Given the description of an element on the screen output the (x, y) to click on. 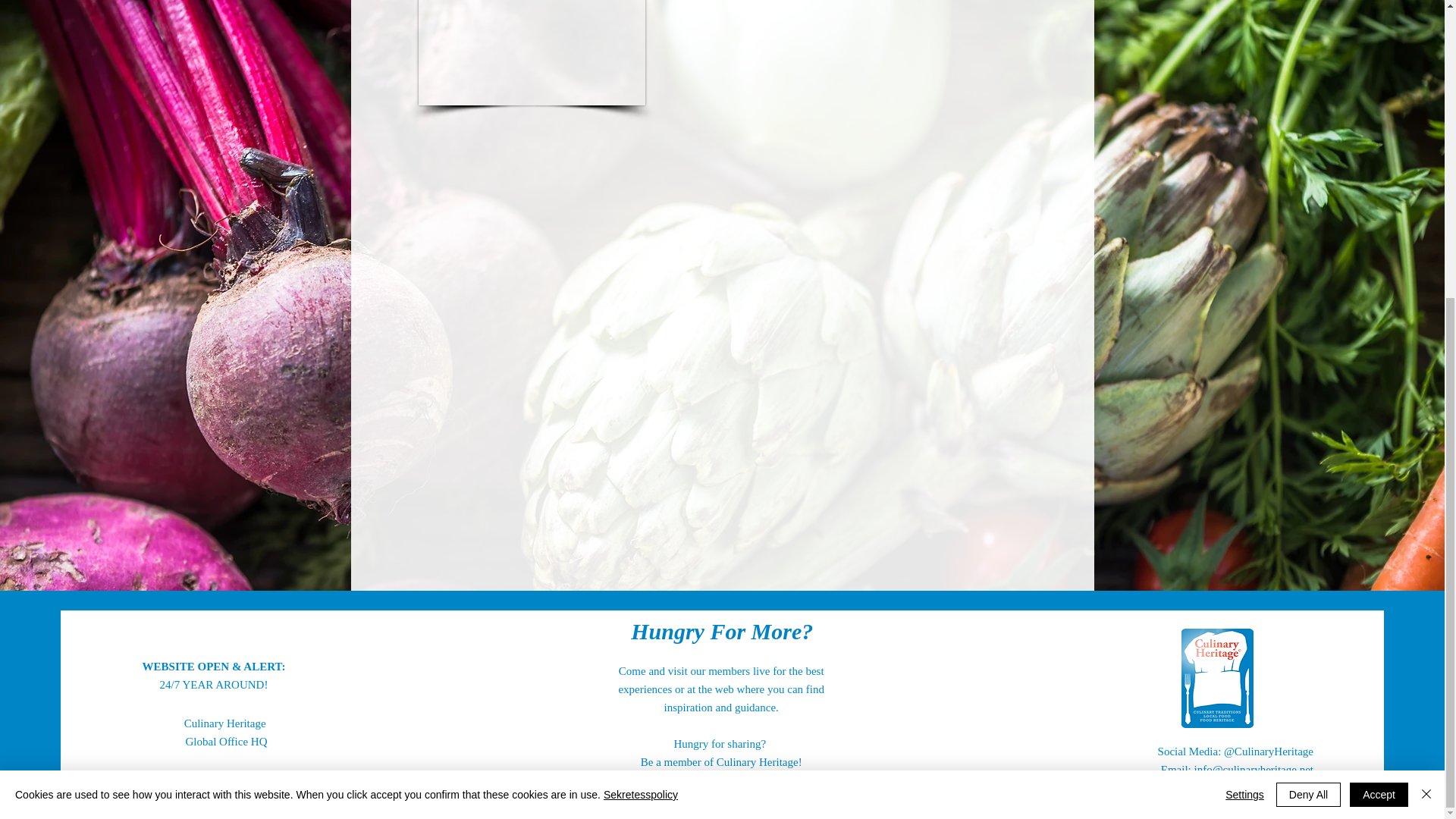
Accept (1378, 333)
Sekretesspolicy (641, 333)
3712 (532, 52)
Deny All (1308, 333)
